Given the description of an element on the screen output the (x, y) to click on. 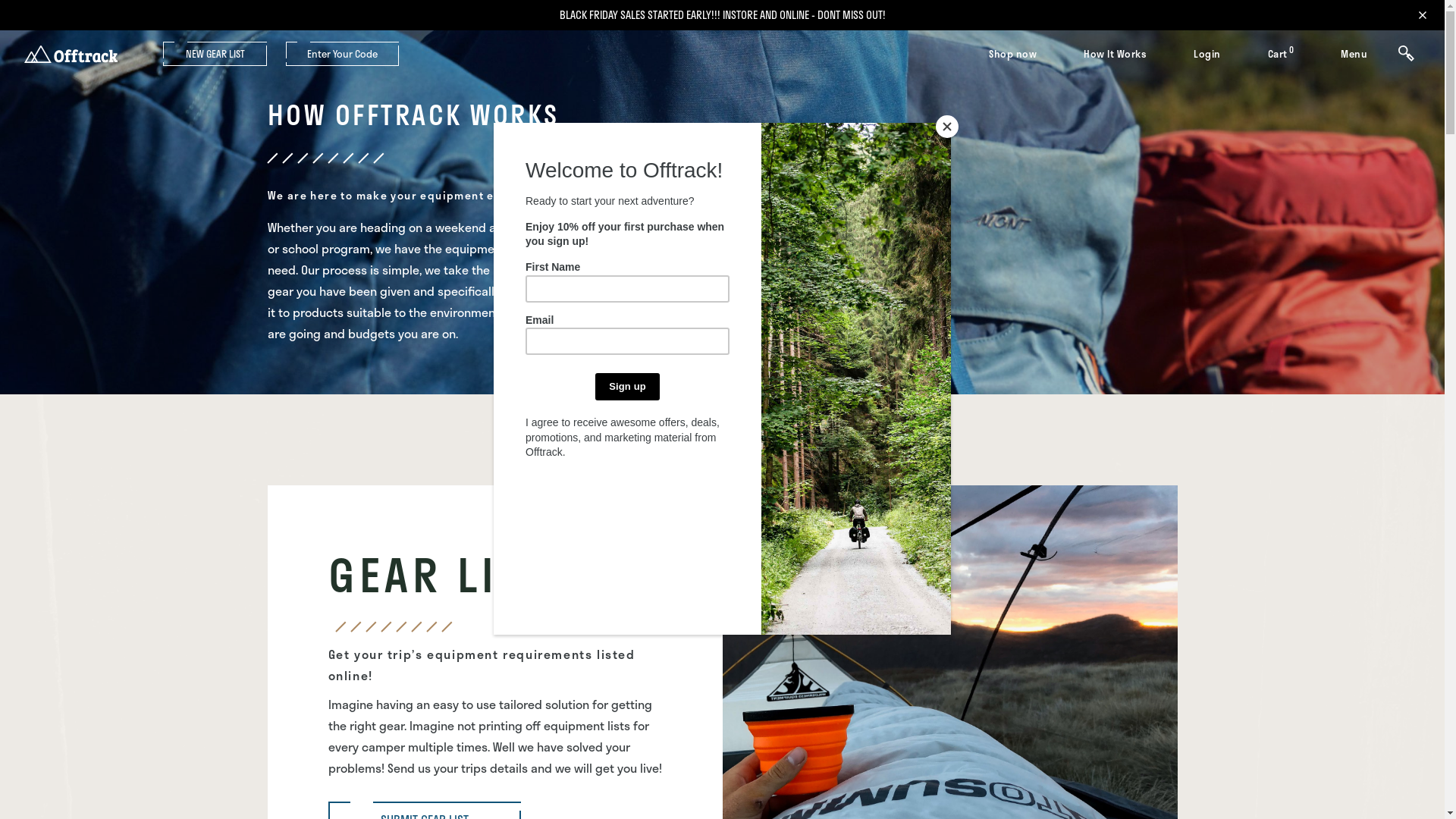
NEW GEAR LIST Element type: text (214, 53)
Shop now Element type: text (1012, 54)
Login Element type: text (1207, 54)
Sign up Element type: text (627, 386)
Enter Your Code Element type: text (341, 53)
How It Works Element type: text (1115, 54)
